Given the description of an element on the screen output the (x, y) to click on. 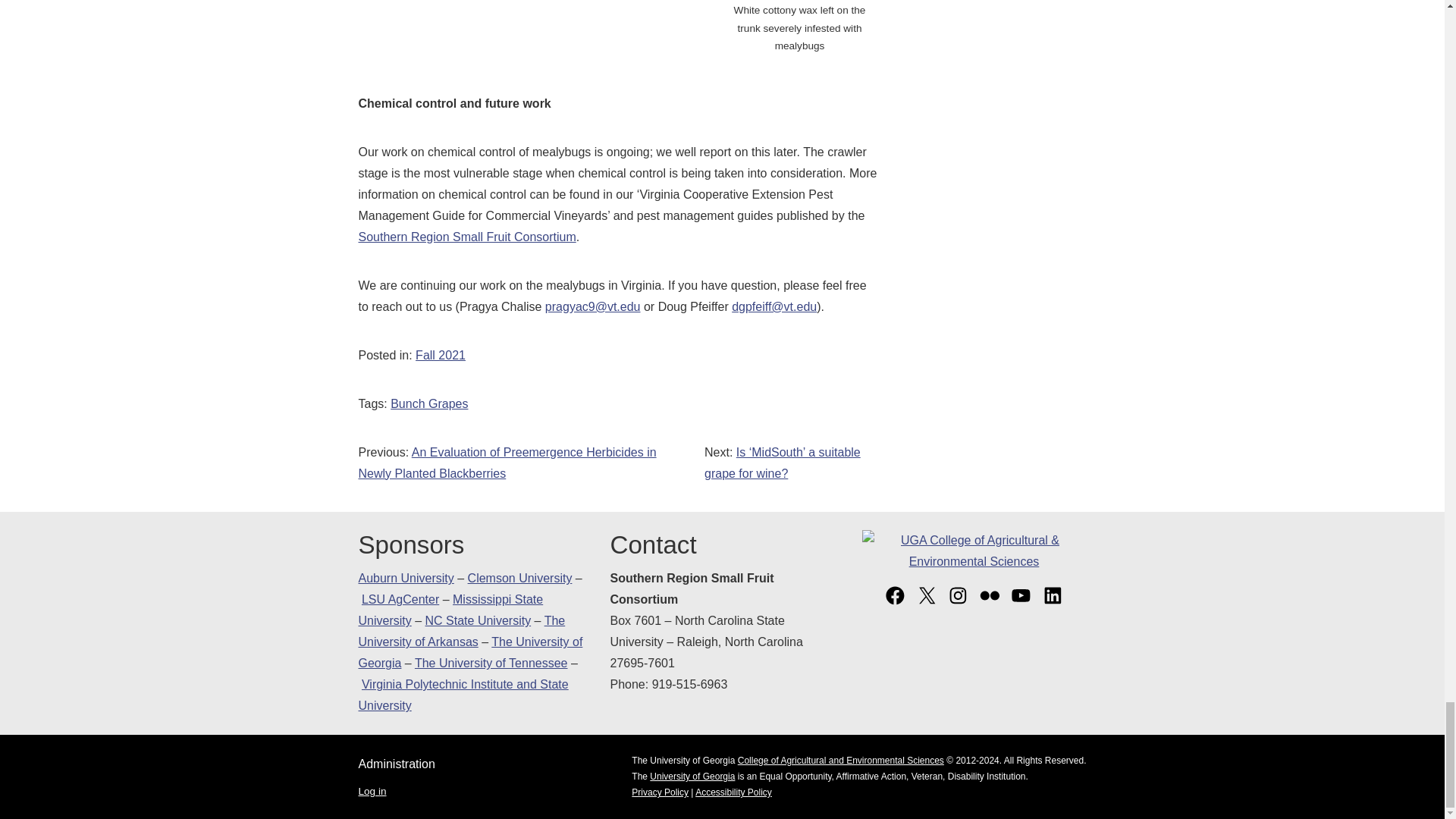
Bunch Grapes (428, 403)
Southern Region Small Fruit Consortium (466, 236)
Fall 2021 (439, 354)
